Given the description of an element on the screen output the (x, y) to click on. 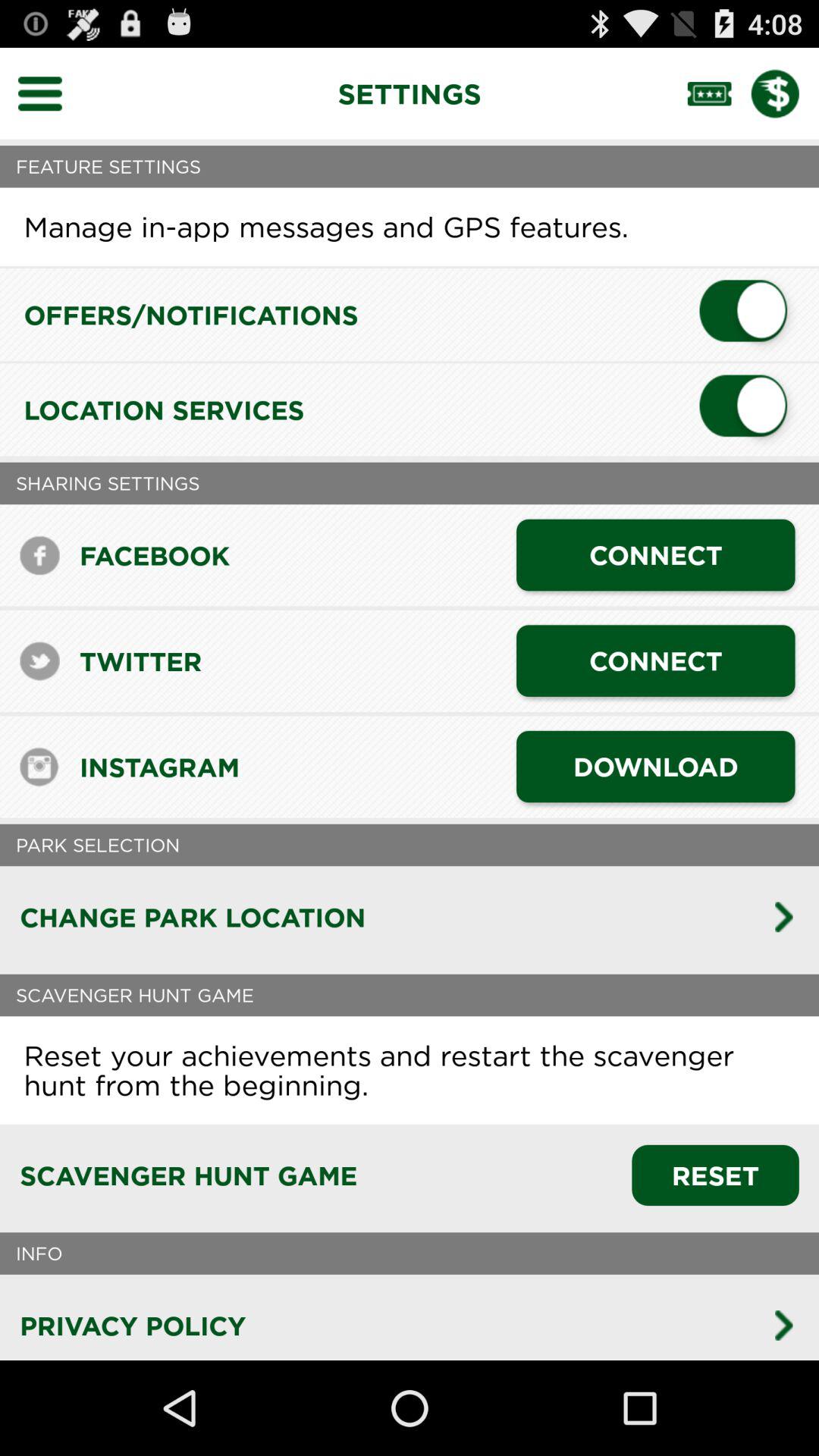
press the download icon (655, 766)
